Given the description of an element on the screen output the (x, y) to click on. 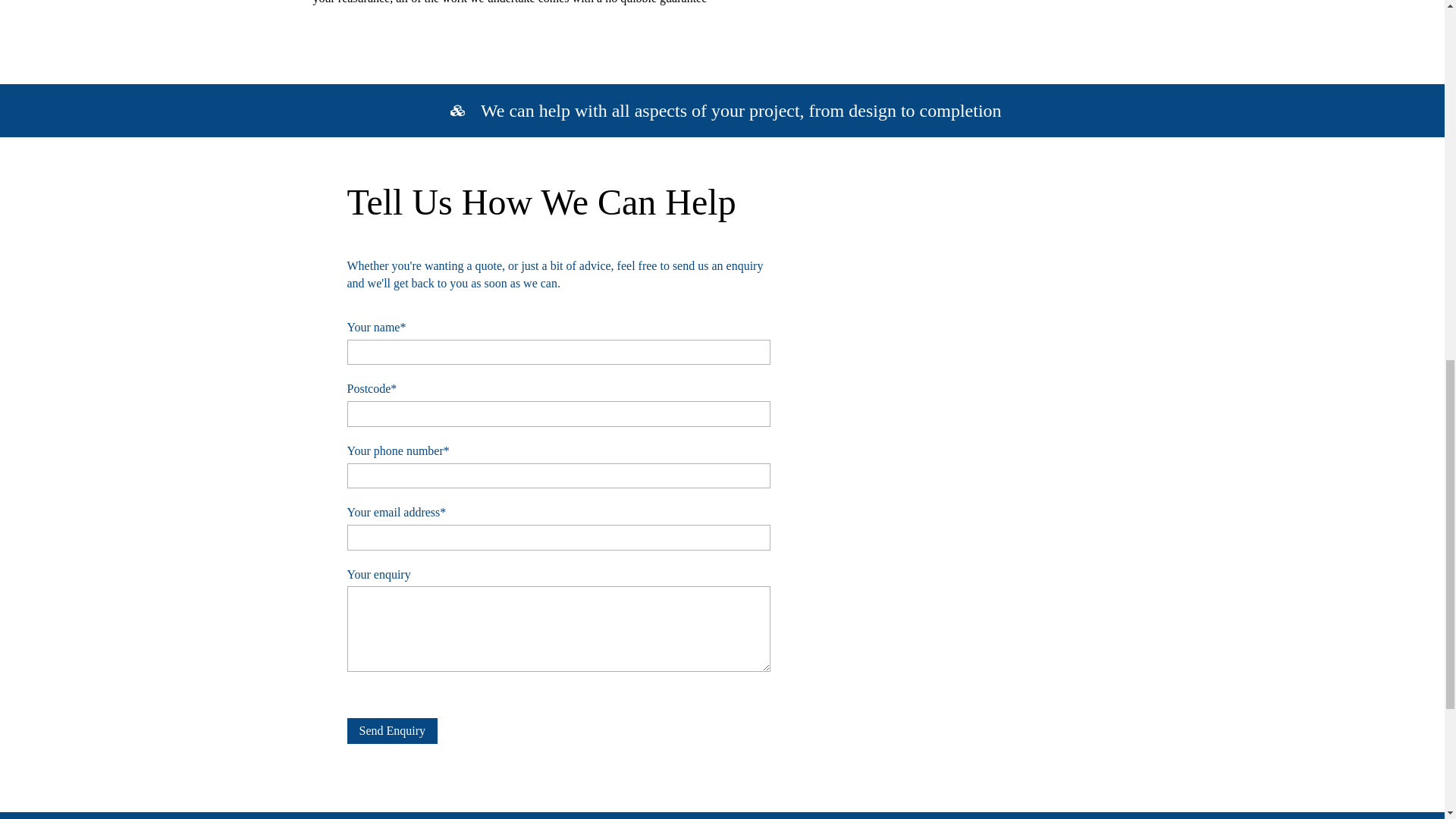
Send Enquiry (392, 730)
About Priory Paving Hull (998, 2)
Send Enquiry (392, 730)
